Given the description of an element on the screen output the (x, y) to click on. 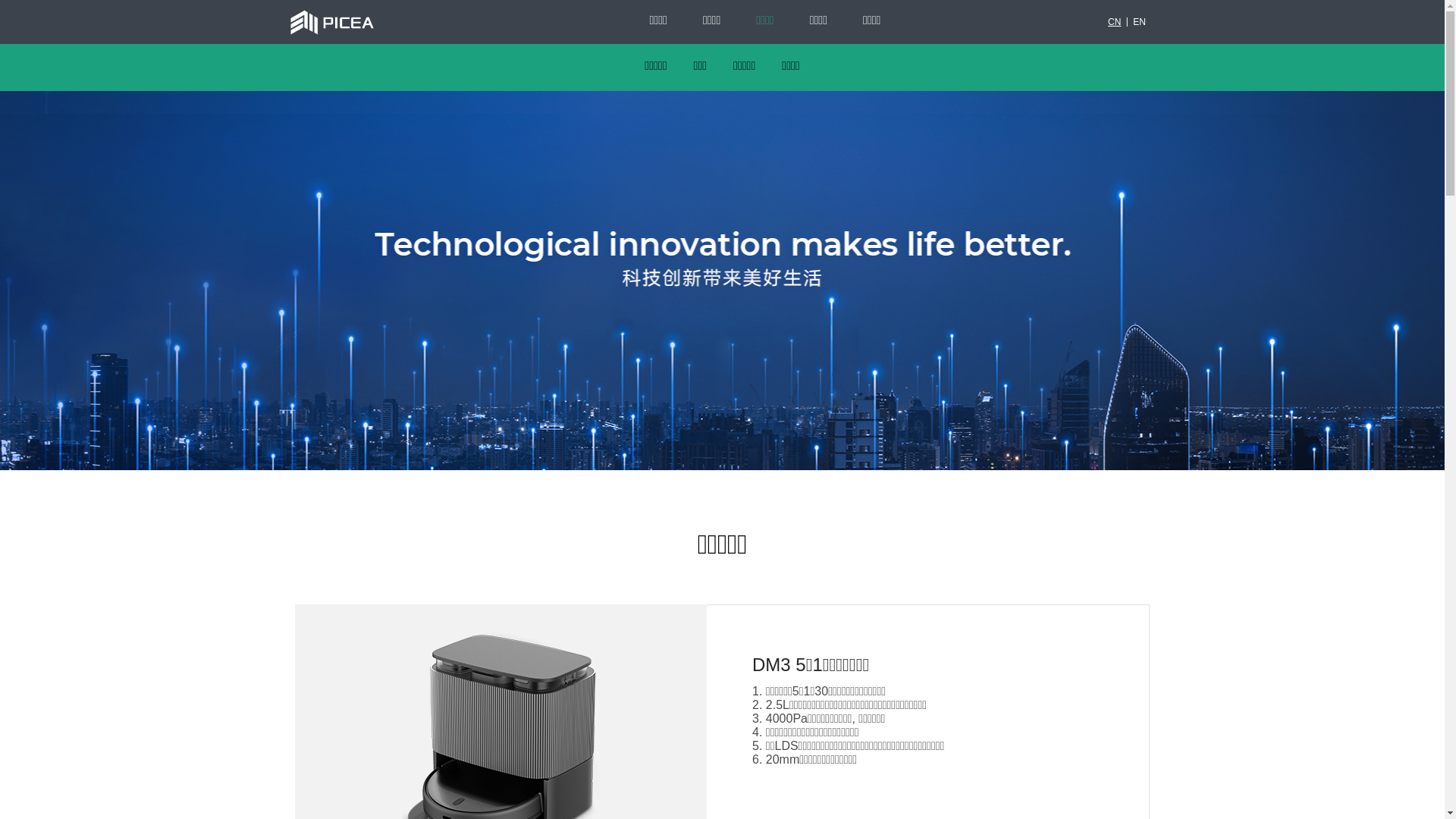
EN Element type: text (1138, 21)
CN Element type: text (1113, 21)
